Given the description of an element on the screen output the (x, y) to click on. 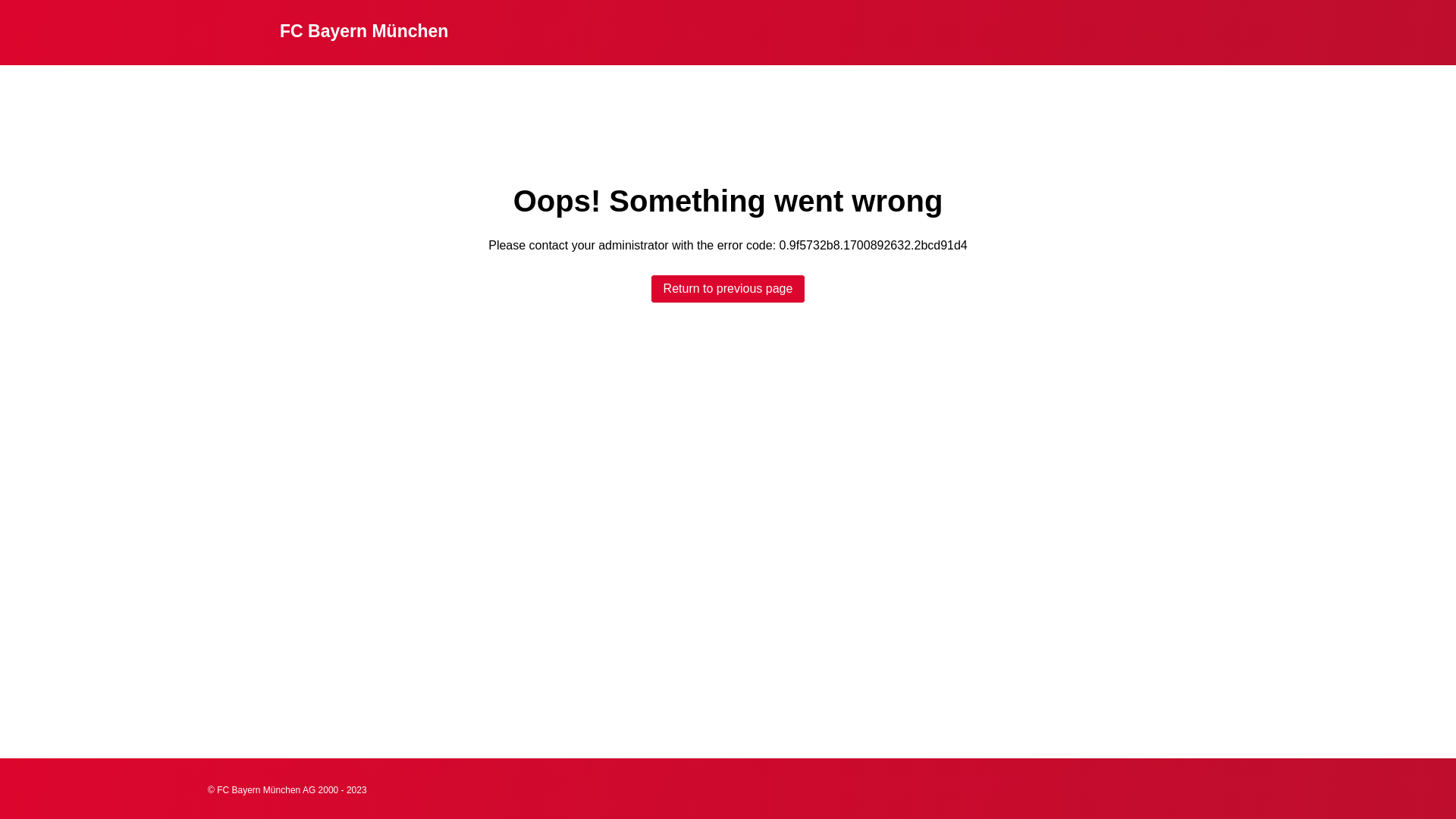
Return to previous page Element type: text (728, 288)
